Given the description of an element on the screen output the (x, y) to click on. 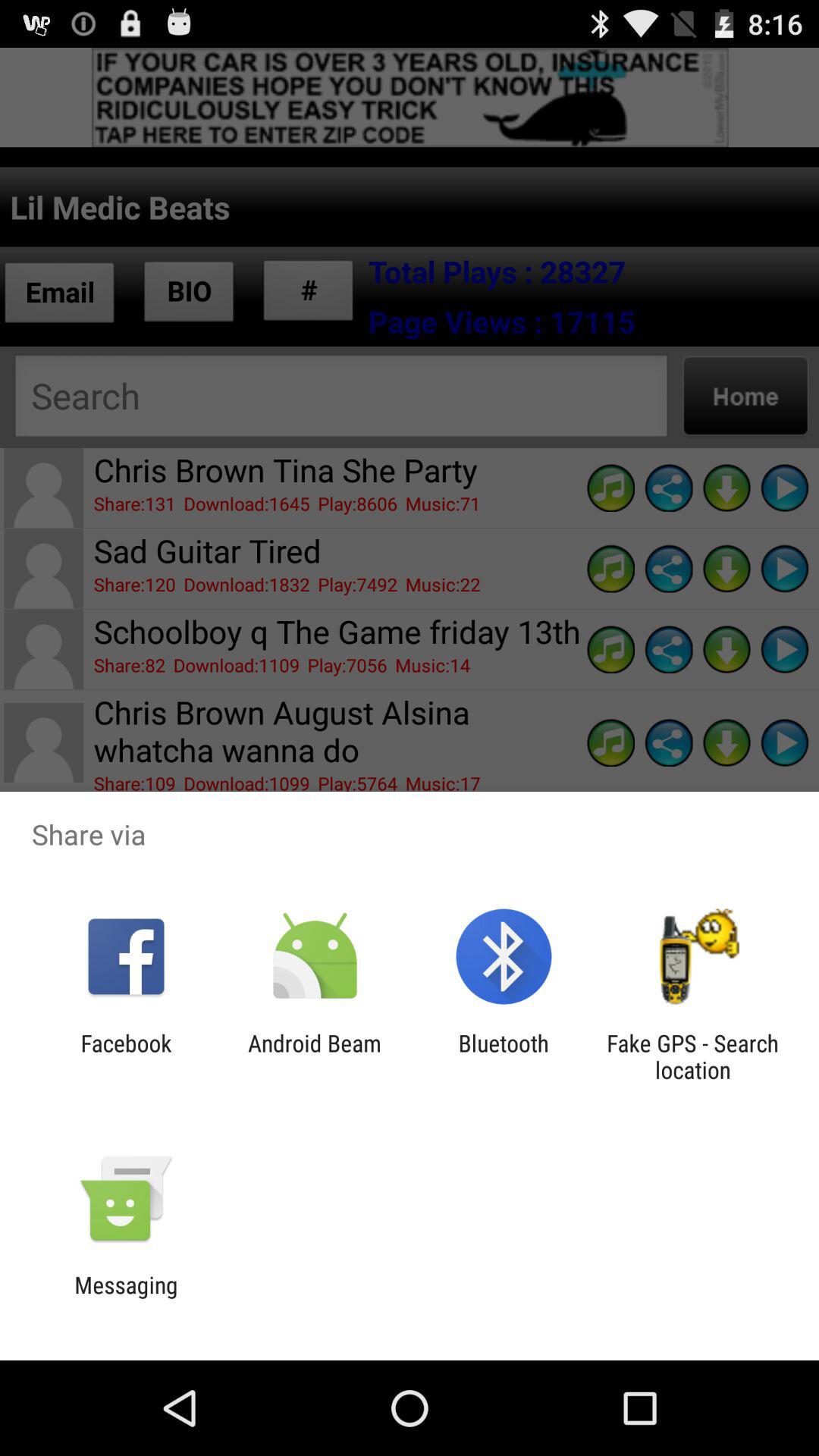
launch the app to the right of the android beam icon (503, 1056)
